Given the description of an element on the screen output the (x, y) to click on. 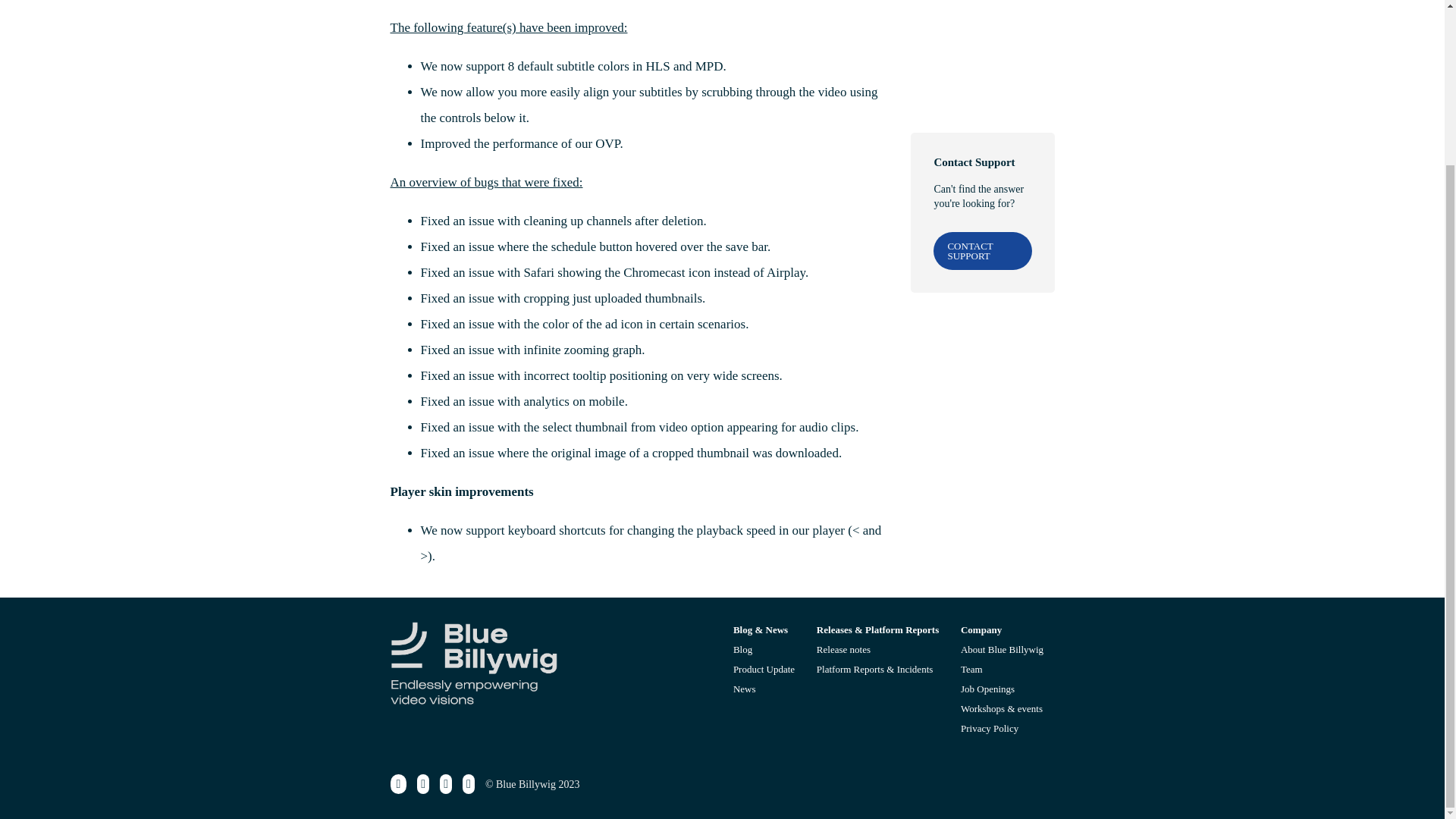
CONTACT SUPPORT (981, 155)
Job Openings (987, 688)
Team (971, 668)
Privacy Policy (988, 727)
Release notes (843, 649)
About Blue Billywig (1001, 649)
News (744, 688)
Product Update (763, 668)
Blog (742, 649)
